Given the description of an element on the screen output the (x, y) to click on. 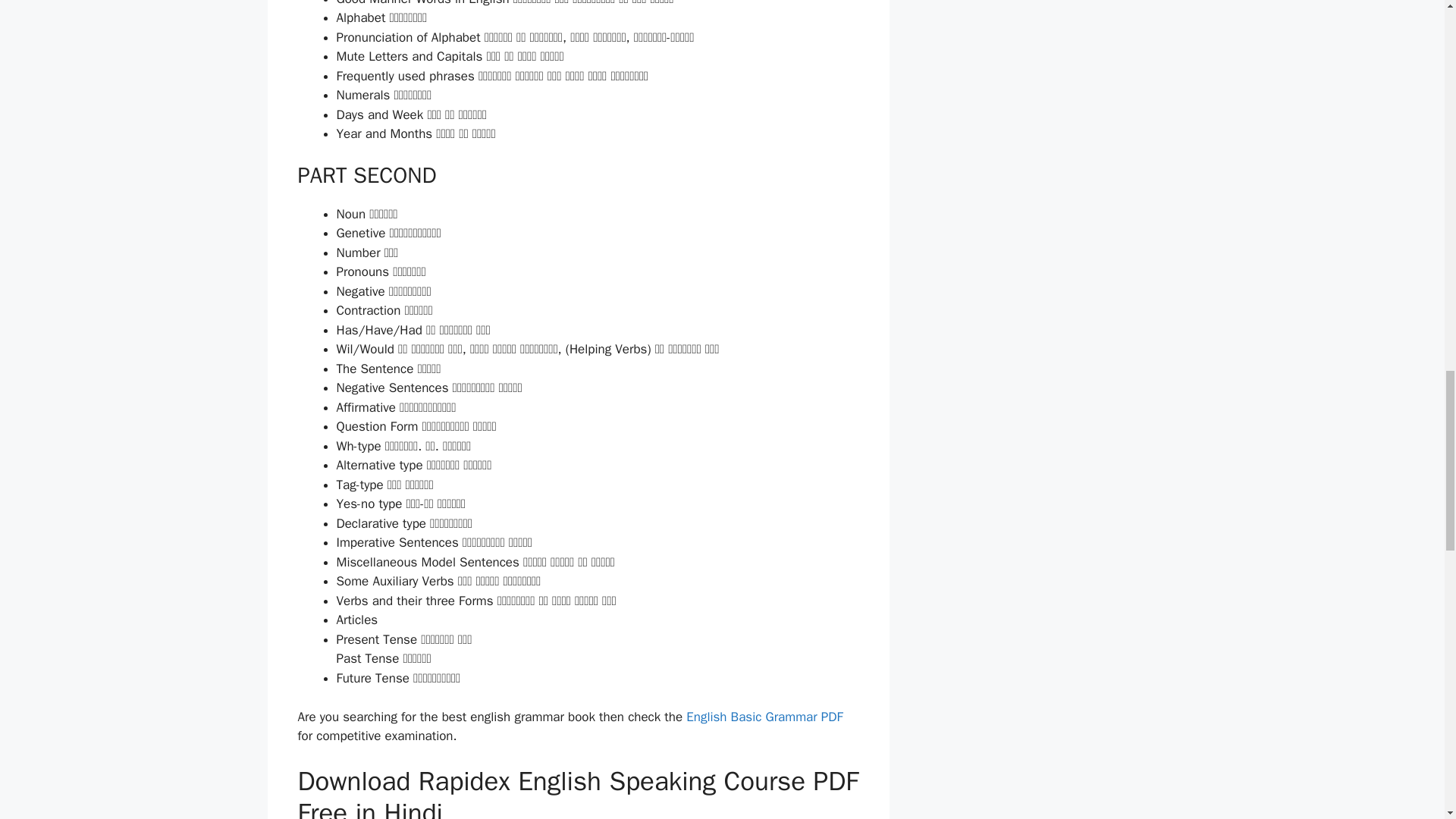
English Basic Grammar PDF (764, 716)
